Given the description of an element on the screen output the (x, y) to click on. 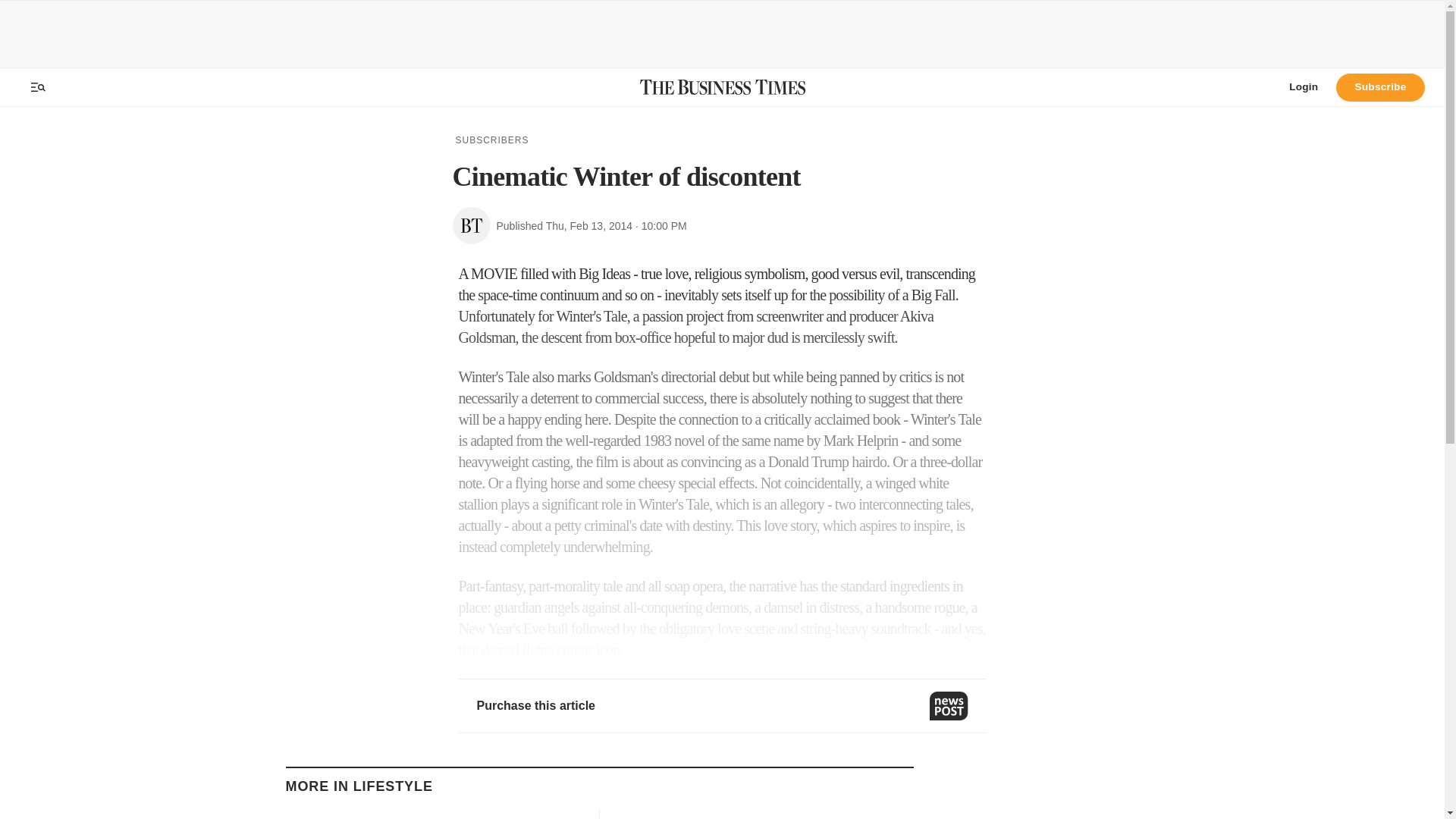
Subscribe (1379, 86)
Purchase this article (722, 705)
Login (1302, 86)
The Business Times (722, 86)
MORE IN LIFESTYLE (358, 785)
